Given the description of an element on the screen output the (x, y) to click on. 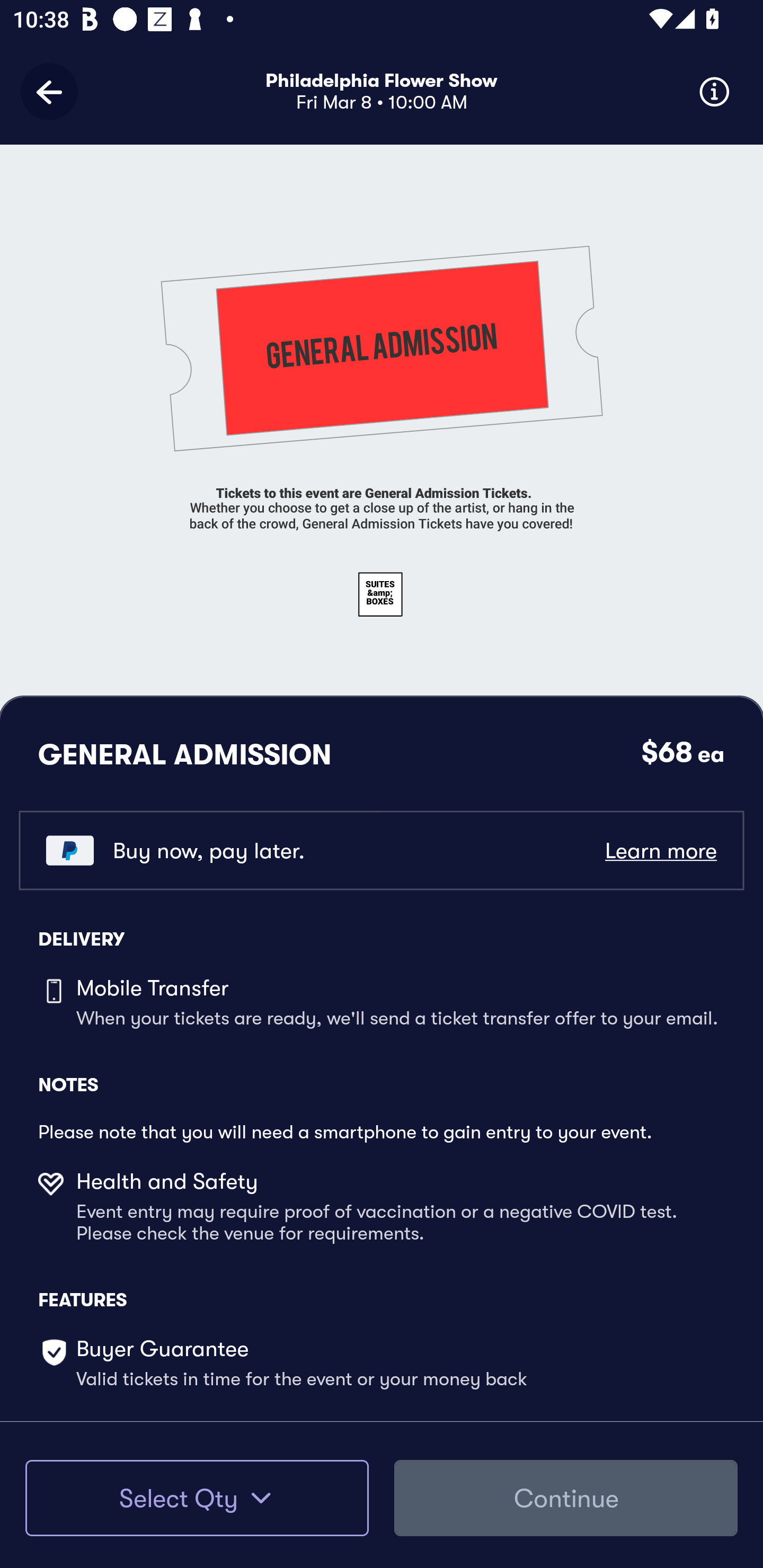
Learn more (660, 850)
Select Qty (196, 1497)
Continue (565, 1497)
